Given the description of an element on the screen output the (x, y) to click on. 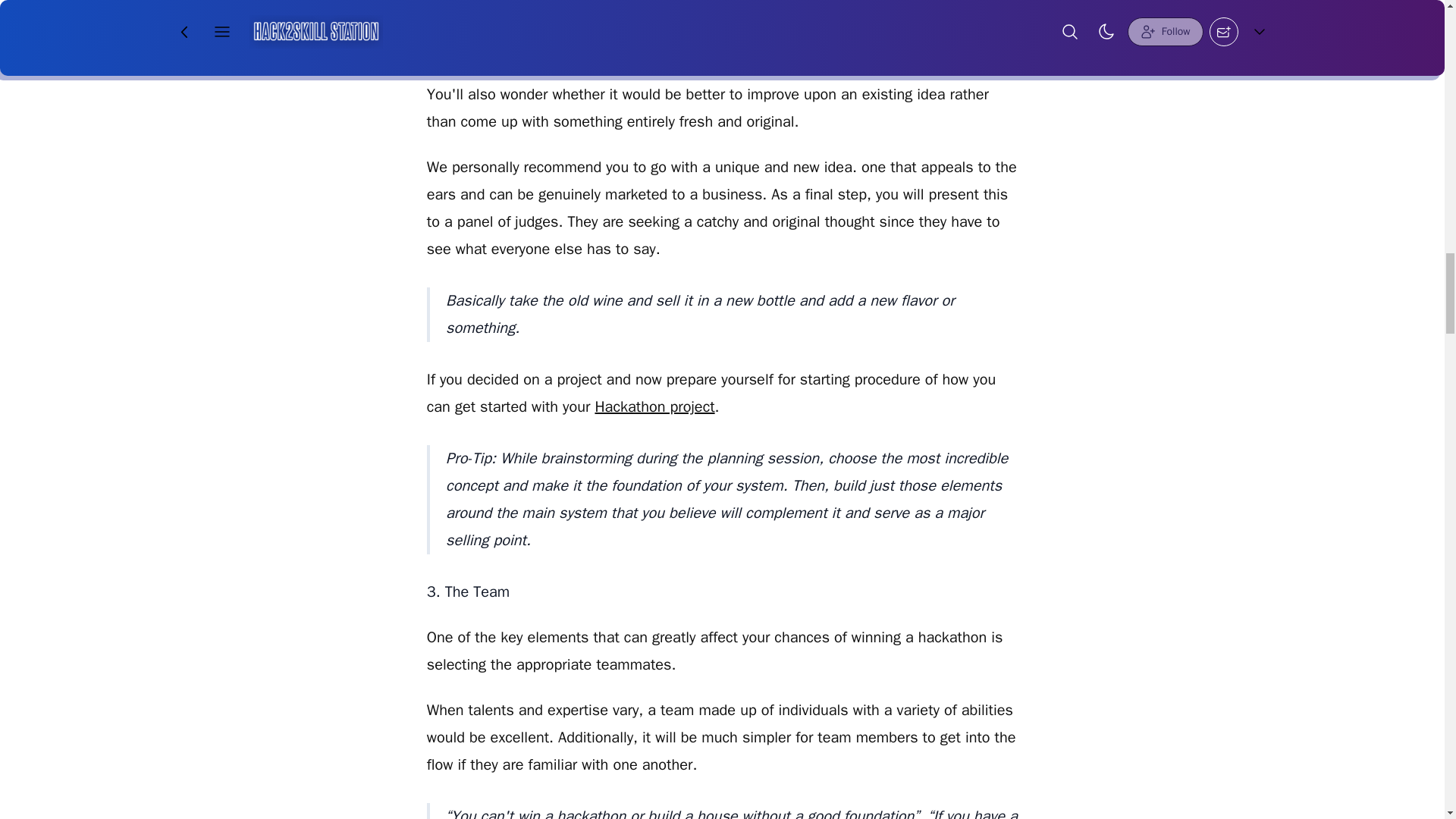
Hackathon project (654, 406)
